Given the description of an element on the screen output the (x, y) to click on. 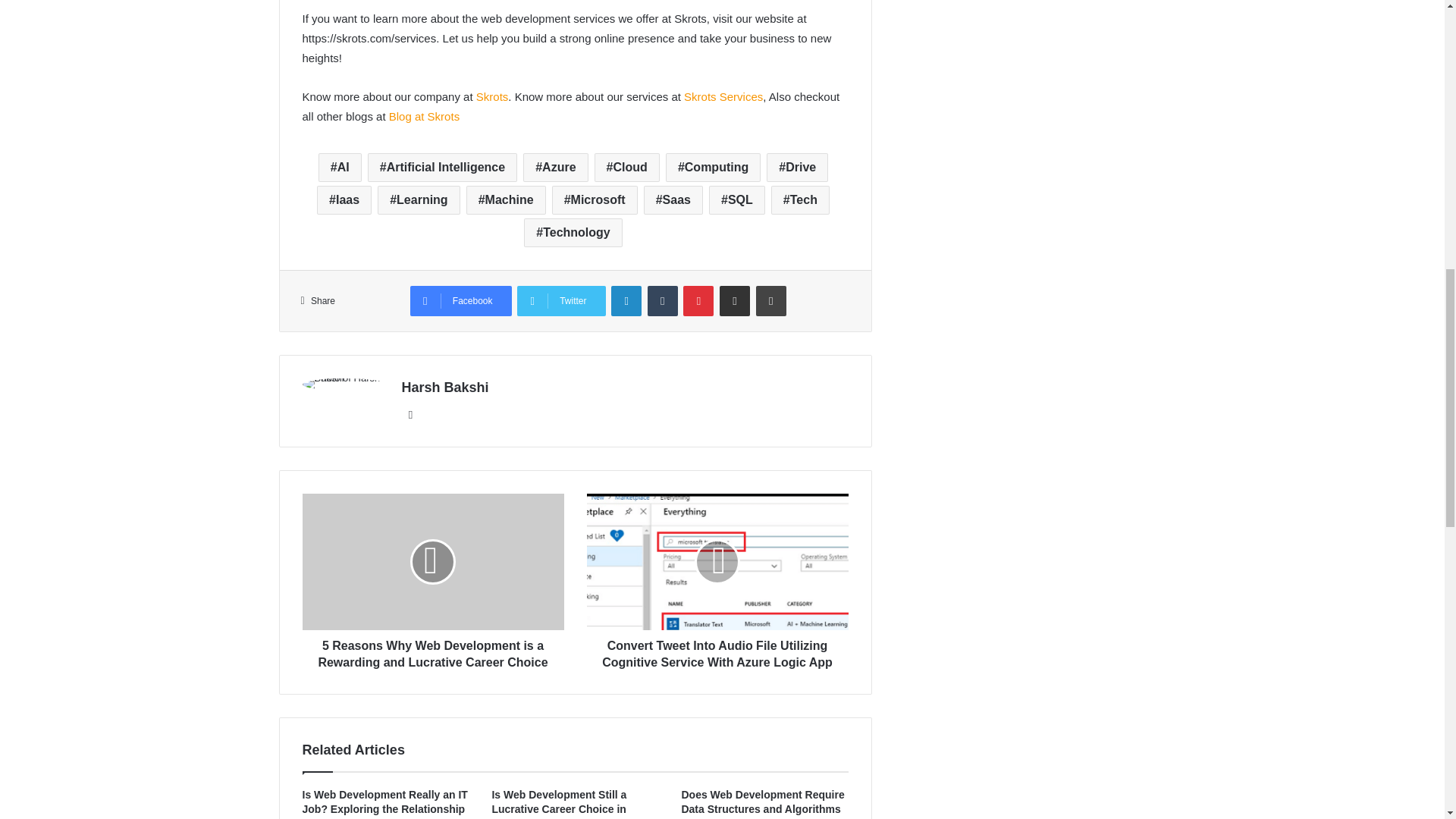
Cloud (626, 167)
Tumblr (662, 300)
Artificial Intelligence (442, 167)
Twitter (560, 300)
Iaas (344, 199)
Learning (418, 199)
Pinterest (697, 300)
Share via Email (734, 300)
Skrots (492, 96)
Drive (797, 167)
